Given the description of an element on the screen output the (x, y) to click on. 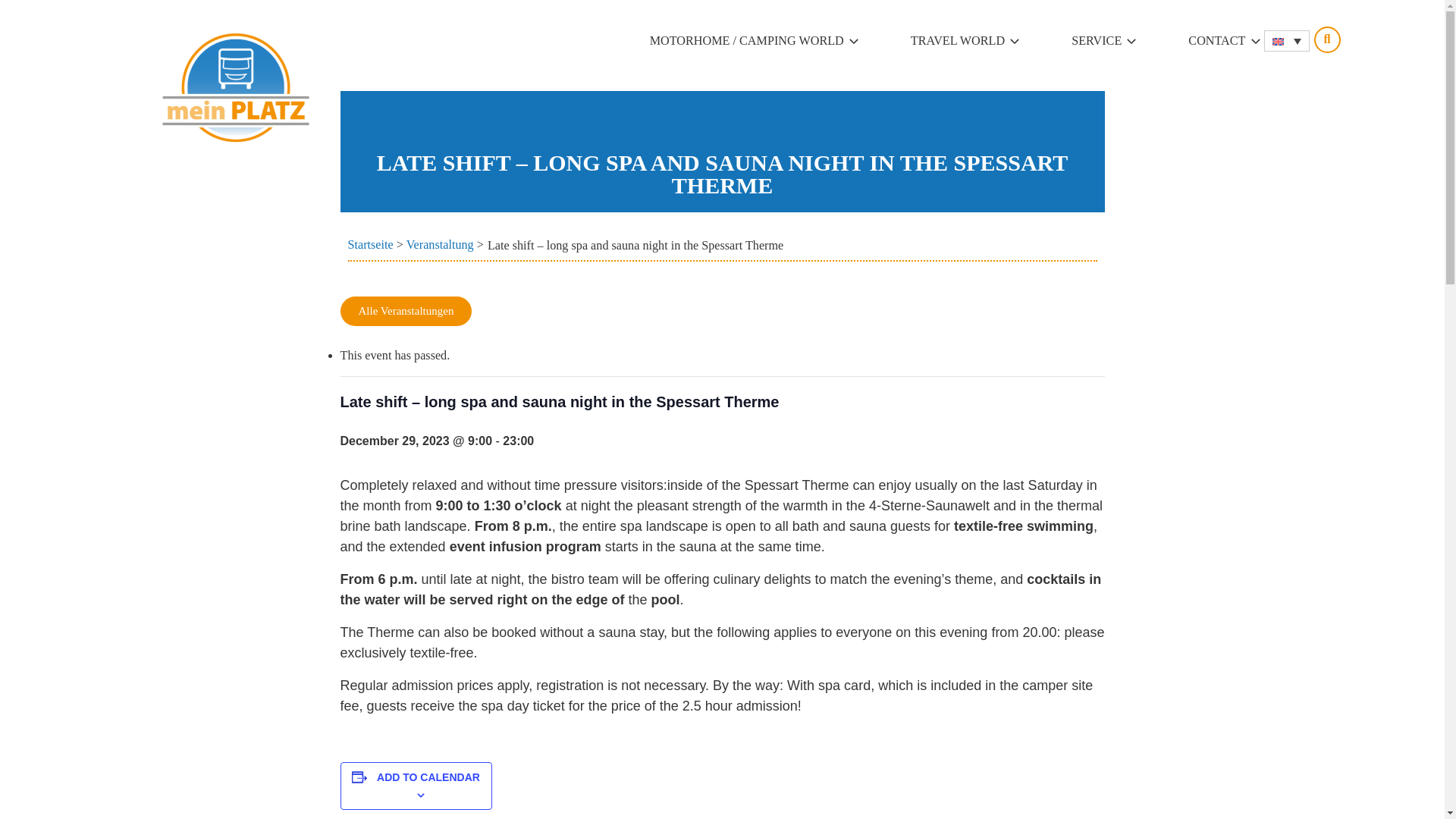
zur Startseite (235, 86)
